Given the description of an element on the screen output the (x, y) to click on. 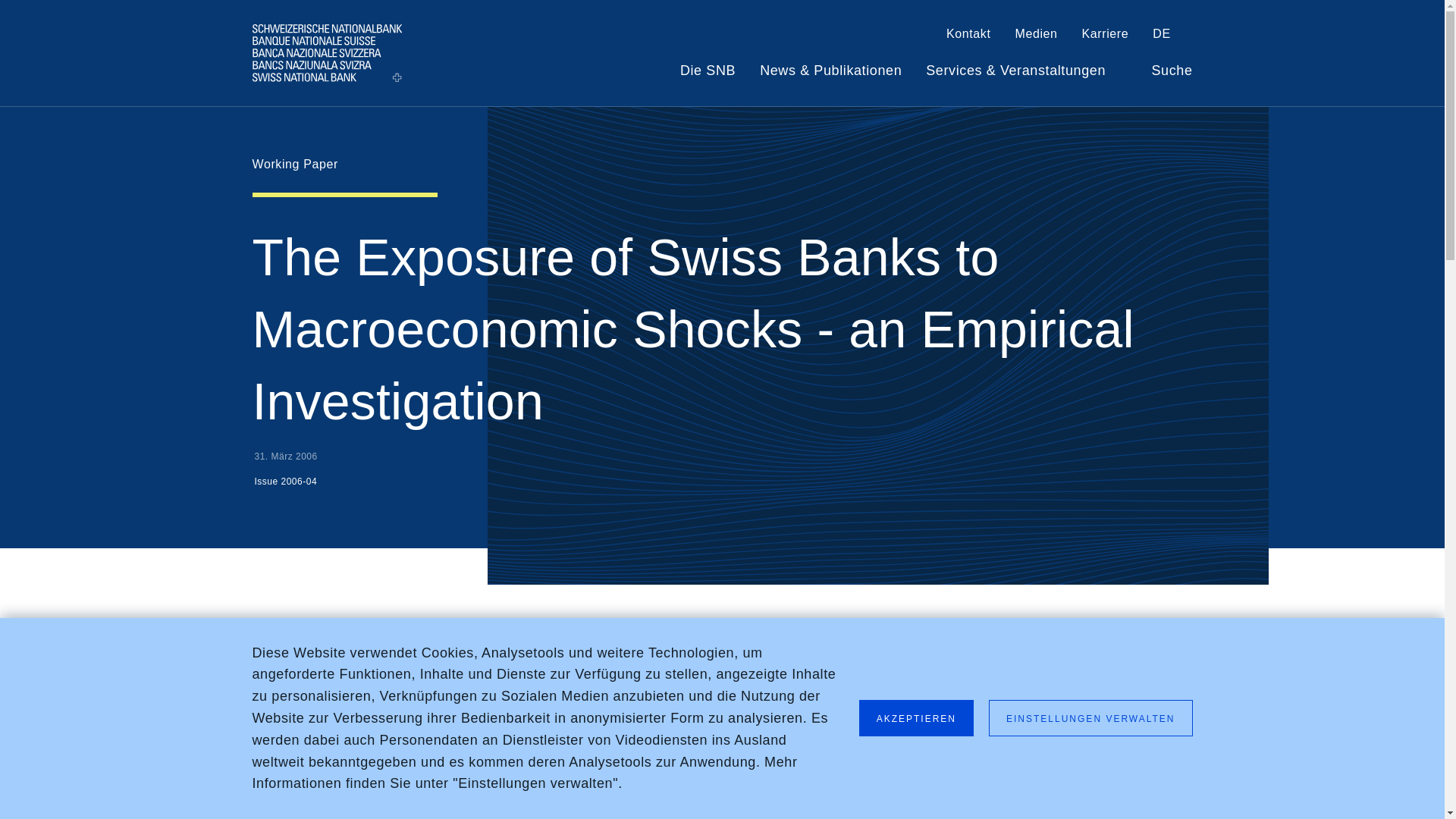
DE (1172, 36)
Kontakt (968, 36)
Die SNB (707, 77)
Logo (326, 52)
Medien (1035, 36)
Karriere (1105, 36)
